Given the description of an element on the screen output the (x, y) to click on. 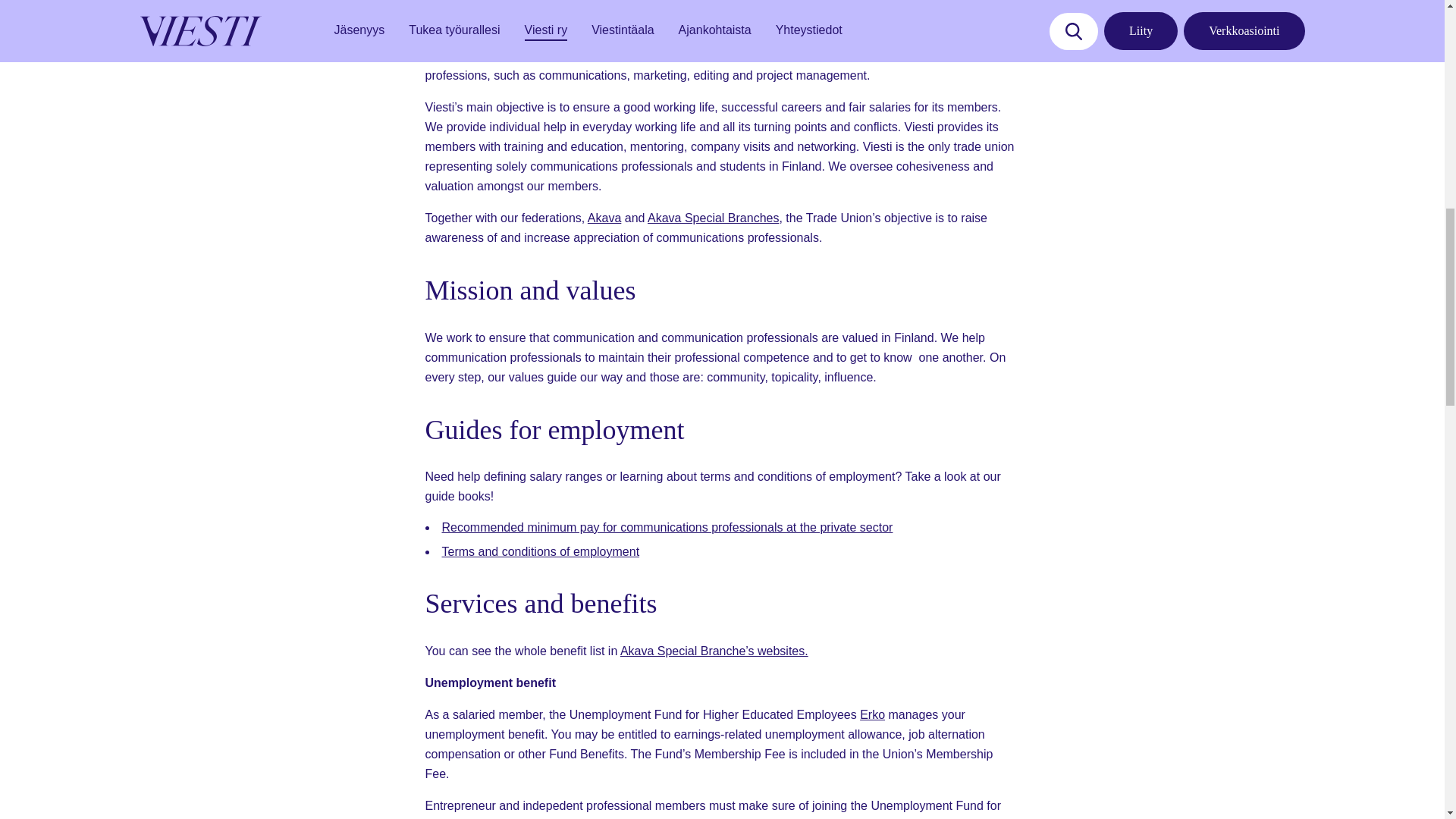
Terms and conditions of employment (540, 551)
Erko (872, 714)
Akava Special Branches (712, 217)
Akava (604, 217)
